Given the description of an element on the screen output the (x, y) to click on. 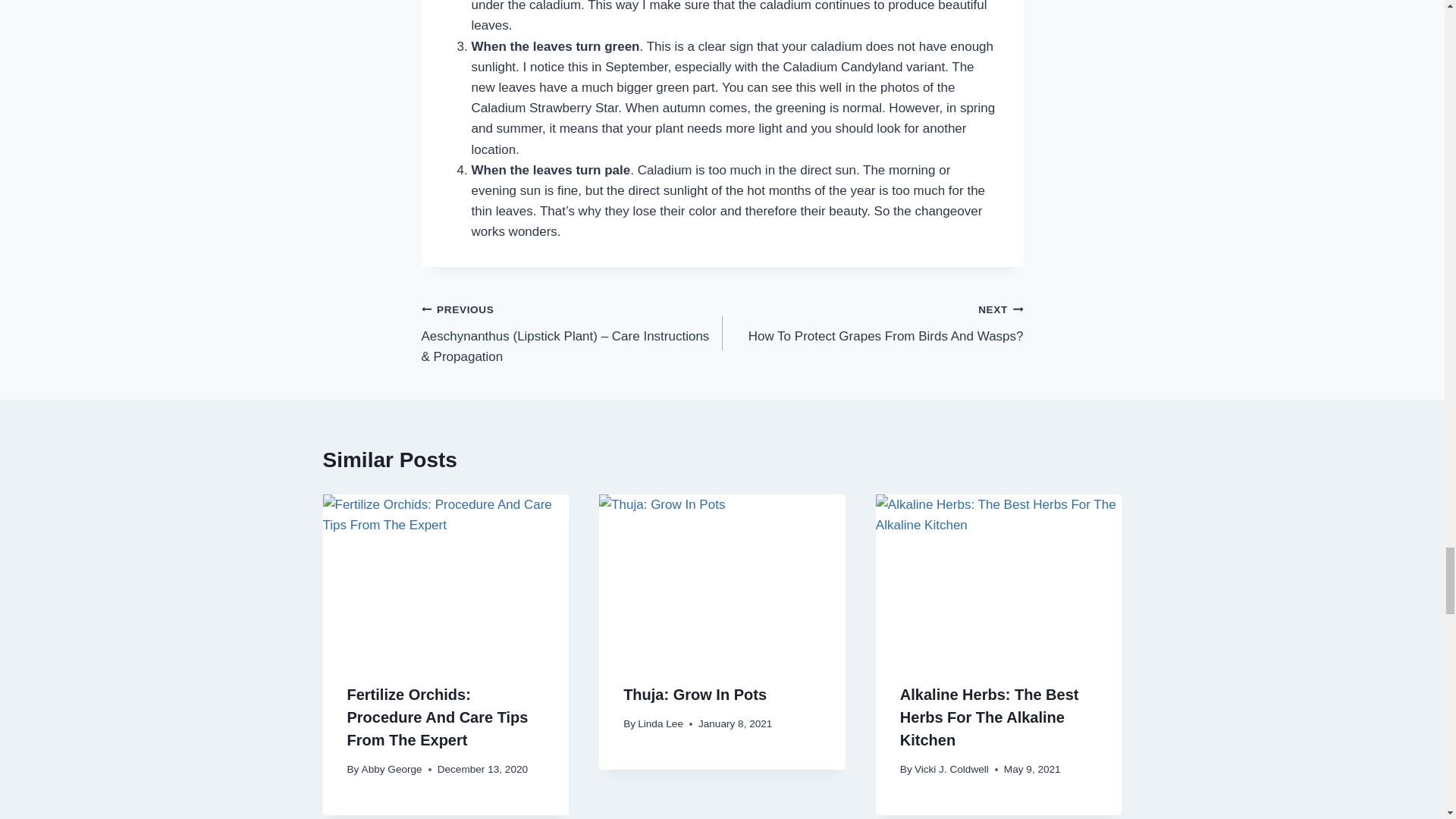
Linda Lee (872, 322)
Alkaline Herbs: The Best Herbs For The Alkaline Kitchen (659, 723)
Abby George (988, 717)
Thuja: Grow In Pots (391, 768)
Fertilize Orchids: Procedure And Care Tips From The Expert (695, 694)
